Given the description of an element on the screen output the (x, y) to click on. 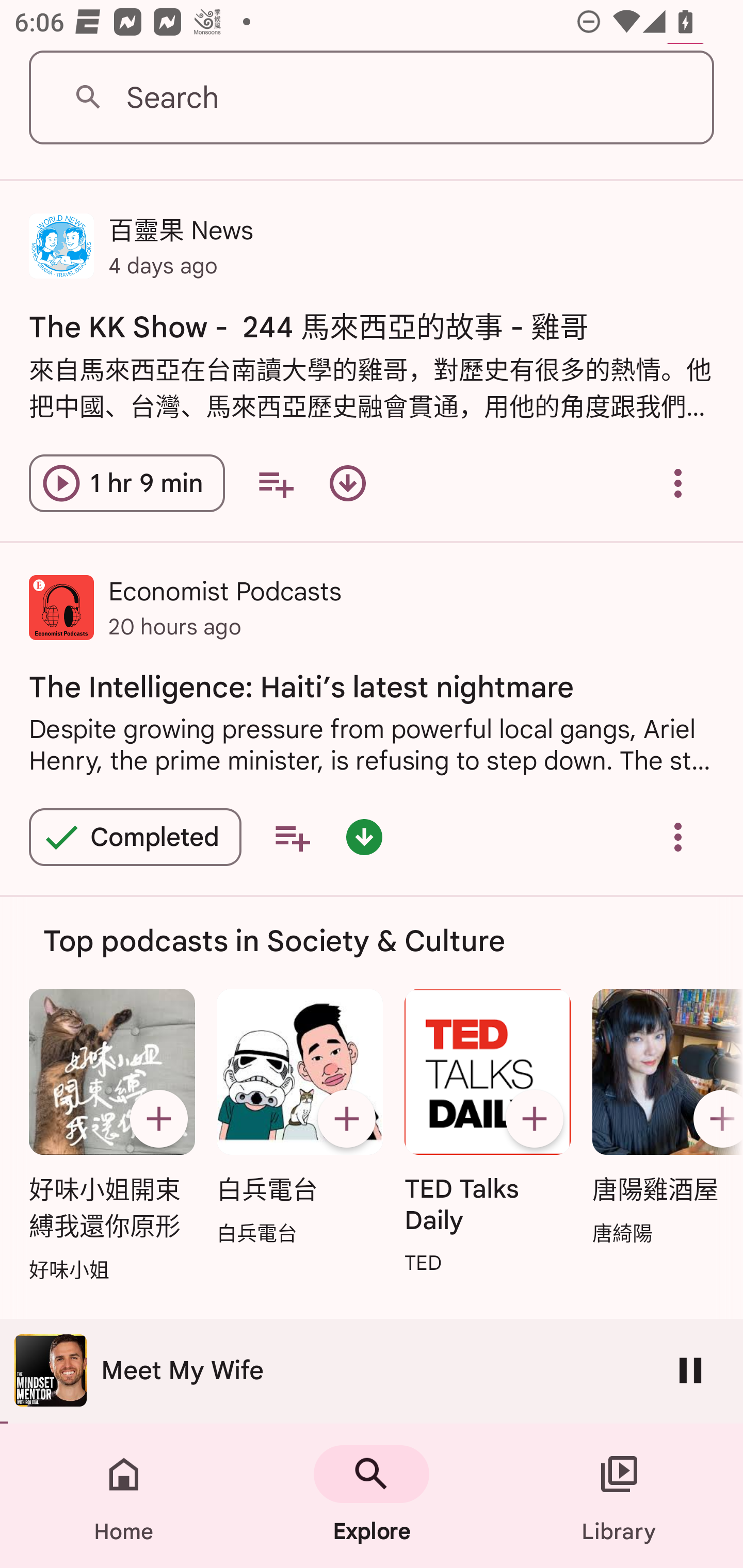
Search (371, 97)
Add to your queue (275, 483)
Download episode (347, 483)
Overflow menu (677, 483)
Add to your queue (291, 837)
Episode downloaded - double tap for options (364, 837)
Overflow menu (677, 837)
好味小姐開束縛我還你原形 Subscribe 好味小姐開束縛我還你原形 好味小姐 (111, 1136)
白兵電台 Subscribe 白兵電台 白兵電台 (299, 1118)
TED Talks Daily Subscribe TED Talks Daily TED (487, 1133)
唐陽雞酒屋 Subscribe 唐陽雞酒屋 唐綺陽 (662, 1118)
Subscribe (158, 1118)
Subscribe (346, 1118)
Subscribe (534, 1118)
Subscribe (714, 1118)
好味小姐開束縛我還你原形 好味小姐開束縛我還你原形 4 days ago (371, 1374)
Pause (690, 1370)
Home (123, 1495)
Library (619, 1495)
